Given the description of an element on the screen output the (x, y) to click on. 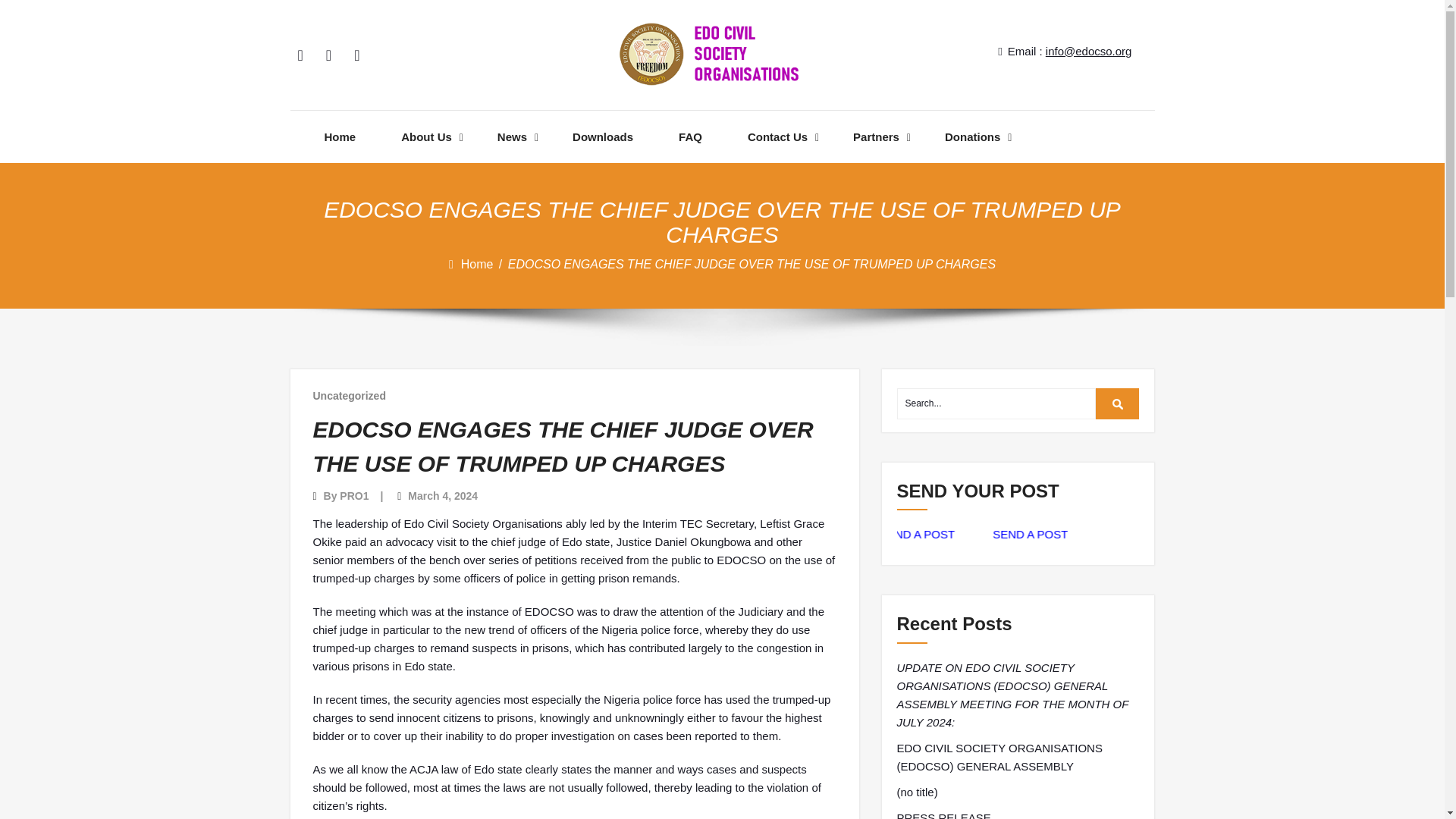
March 4, 2024 (442, 495)
Contact Us (778, 136)
Uncategorized (349, 395)
SEND A POST (933, 533)
PRO1 (353, 495)
Downloads (602, 136)
Donations (972, 136)
Search (1118, 403)
Search (1118, 403)
Home (478, 264)
About Us (426, 136)
